Given the description of an element on the screen output the (x, y) to click on. 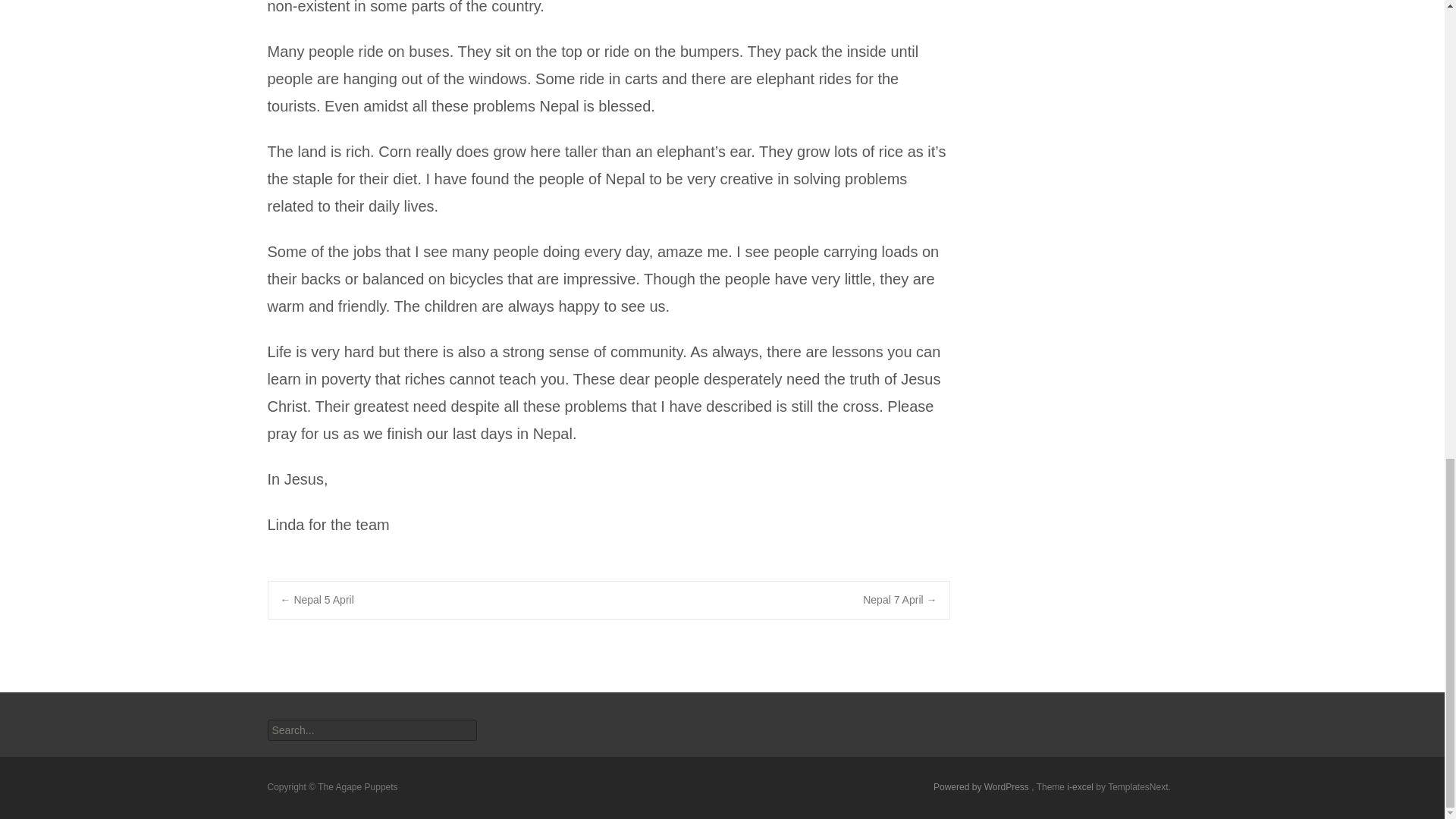
Multipurpose Business WooCommerce Theme (1081, 787)
Semantic Personal Publishing Platform (981, 787)
i-excel (1081, 787)
Powered by WordPress (981, 787)
Search for: (371, 730)
